Given the description of an element on the screen output the (x, y) to click on. 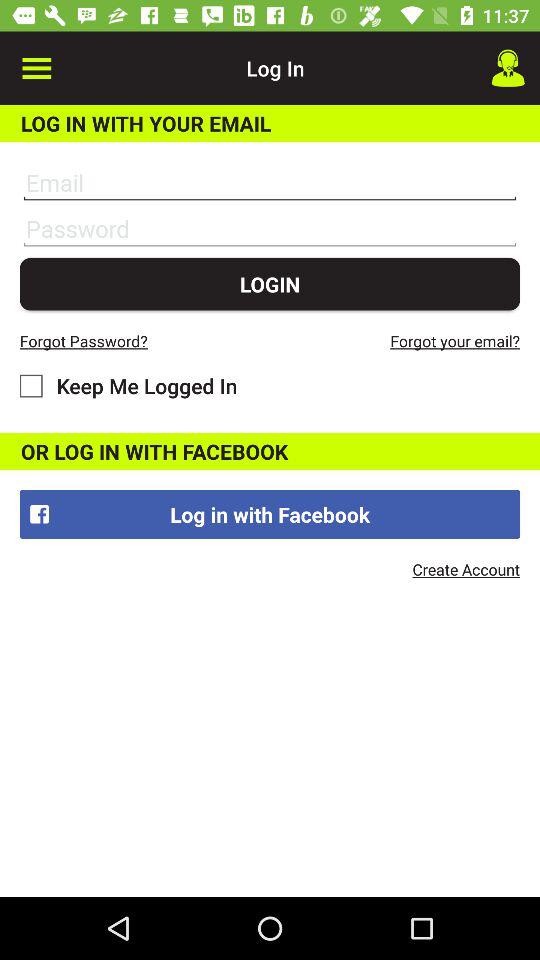
launch the item to the right of the log in (508, 67)
